Given the description of an element on the screen output the (x, y) to click on. 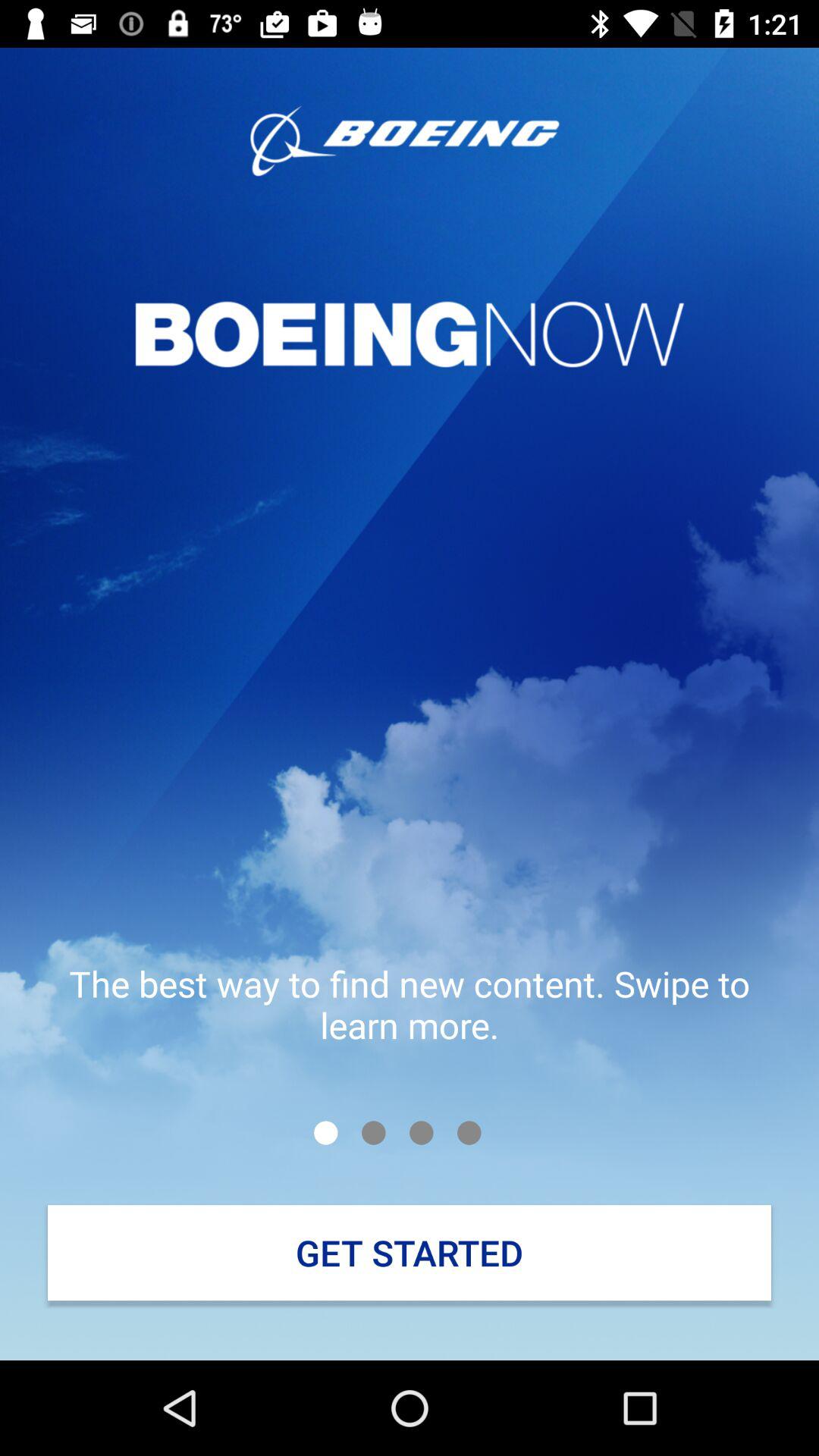
open the get started icon (409, 1252)
